Given the description of an element on the screen output the (x, y) to click on. 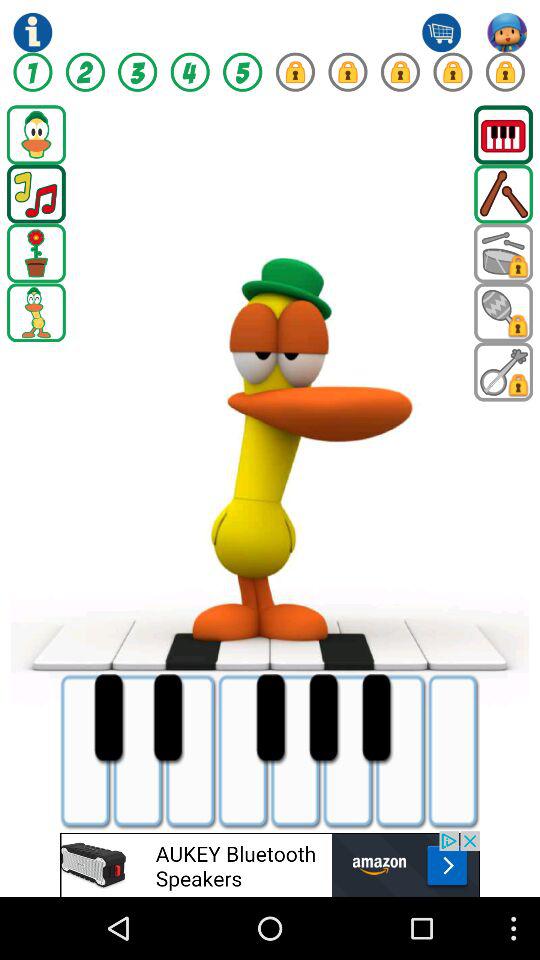
lock better (295, 71)
